Given the description of an element on the screen output the (x, y) to click on. 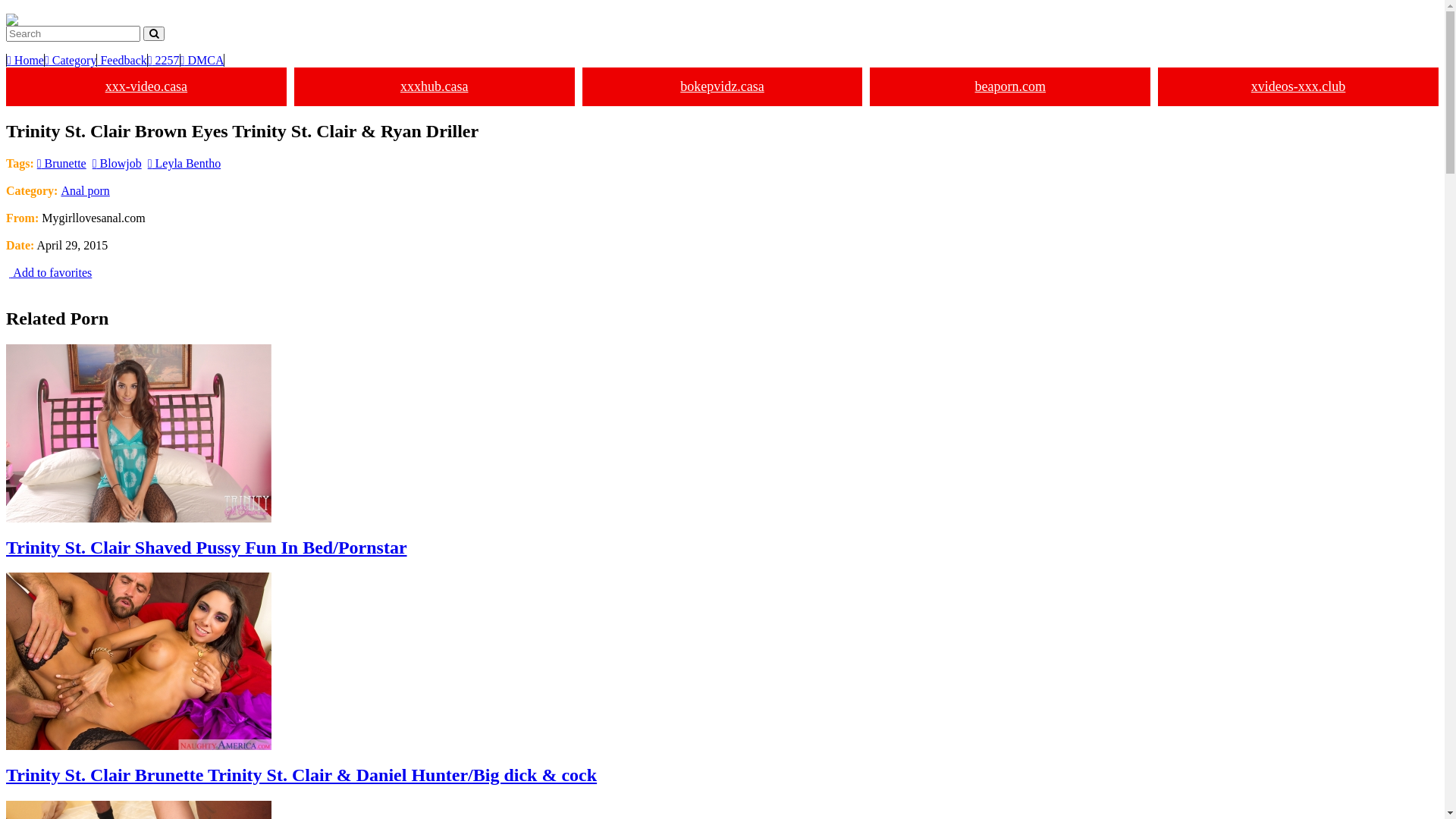
Home Element type: text (25, 59)
Blowjob Element type: text (116, 162)
Brunette Element type: text (61, 162)
Trinity St. Clair Shaved Pussy Fun In Bed/Pornstar Element type: text (722, 451)
Anal porn Element type: text (84, 190)
bokepvidz.casa Element type: text (722, 86)
2257 Element type: text (163, 59)
Feedback Element type: text (122, 59)
Category Element type: text (70, 59)
xvideos-xxx.club Element type: text (1297, 86)
beaporn.com Element type: text (1009, 86)
xxxhub.casa Element type: text (434, 86)
Leyla Bentho Element type: text (183, 162)
DMCA Element type: text (202, 59)
Add to favorites Element type: text (48, 272)
xxx-video.casa Element type: text (146, 86)
